Given the description of an element on the screen output the (x, y) to click on. 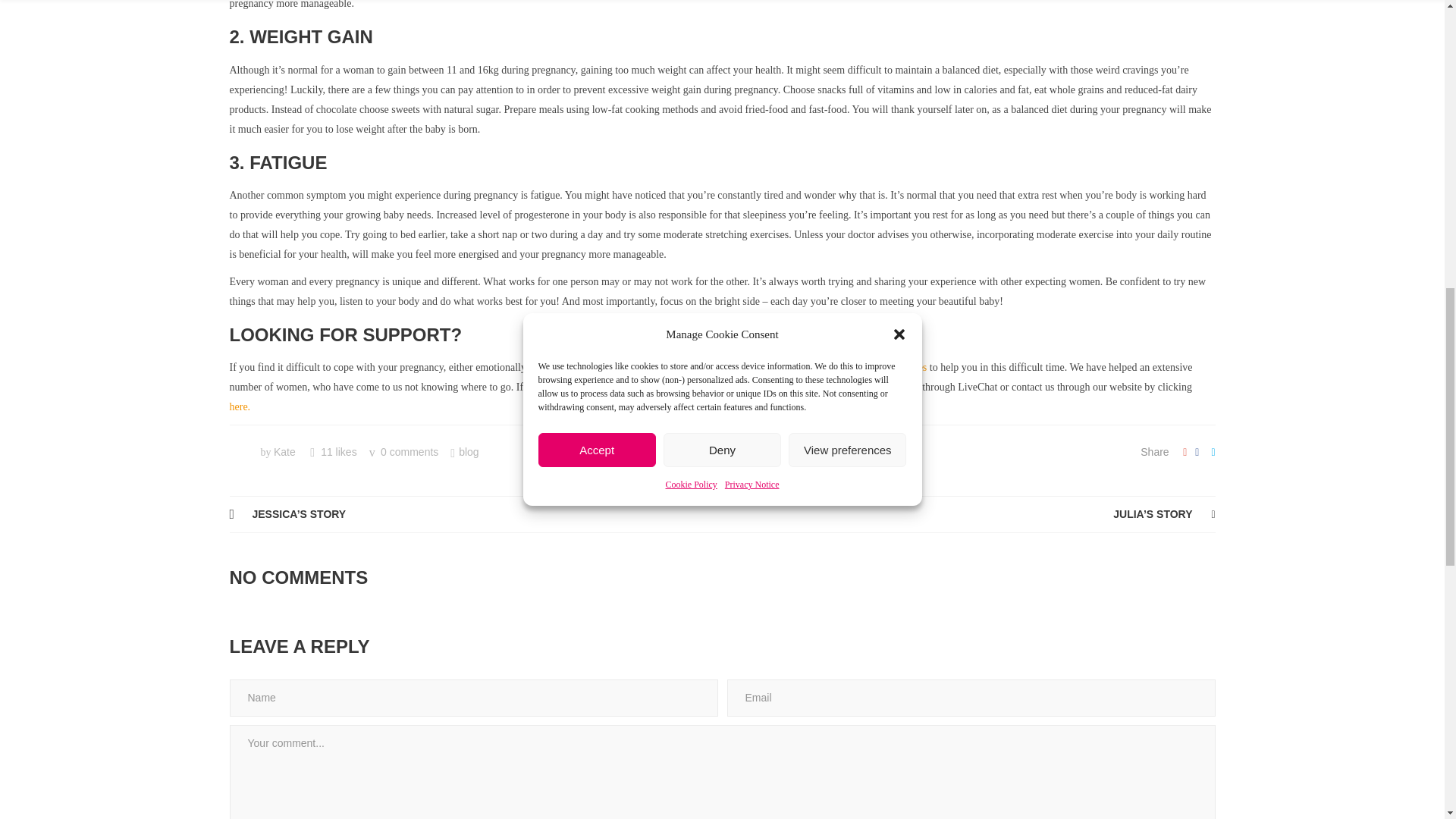
Like this (333, 451)
